Given the description of an element on the screen output the (x, y) to click on. 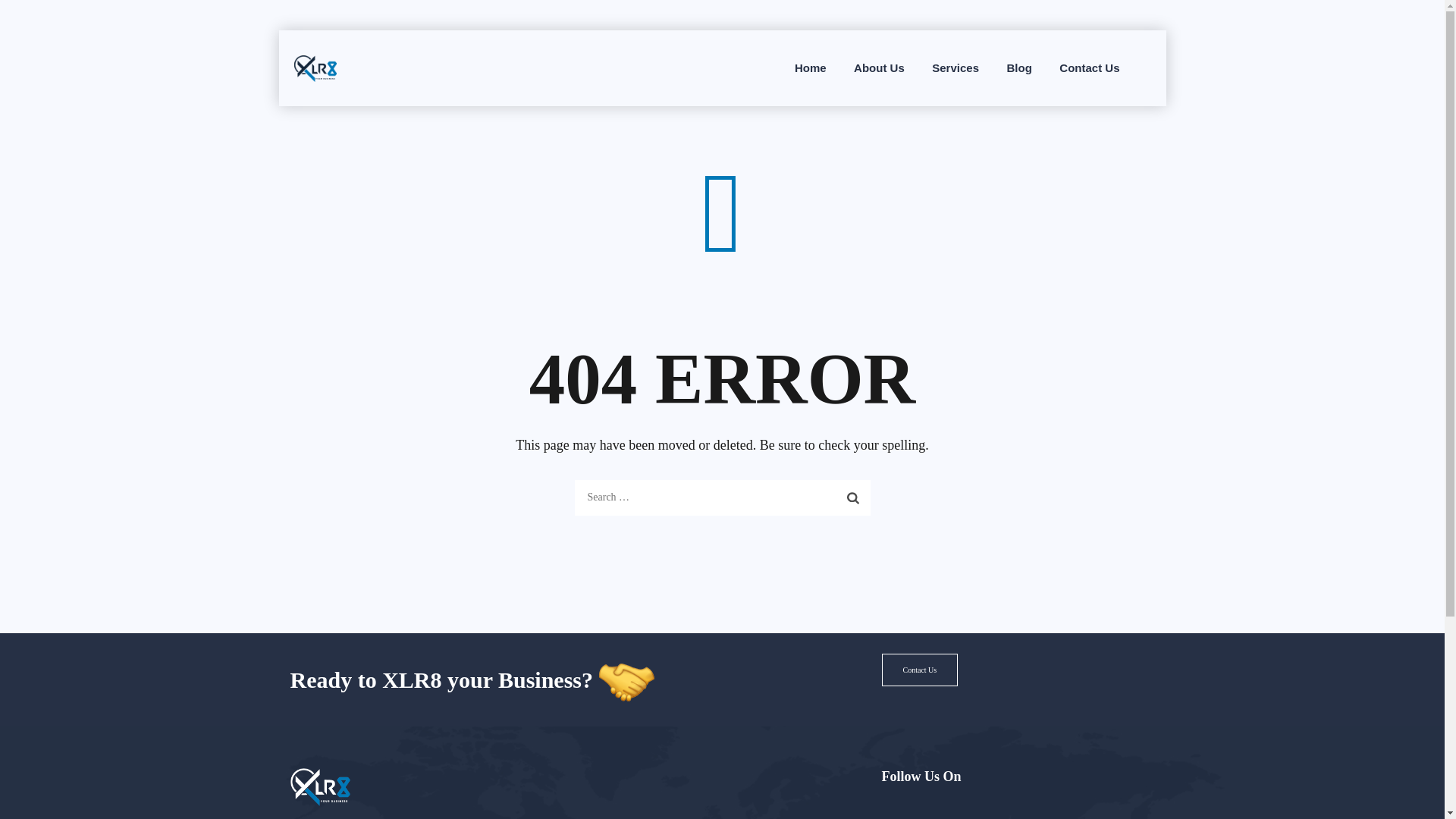
Search (852, 497)
Contact Us (919, 669)
Search (852, 497)
About Us (879, 68)
Services (954, 68)
Search (852, 497)
Contact Us (1089, 68)
